Given the description of an element on the screen output the (x, y) to click on. 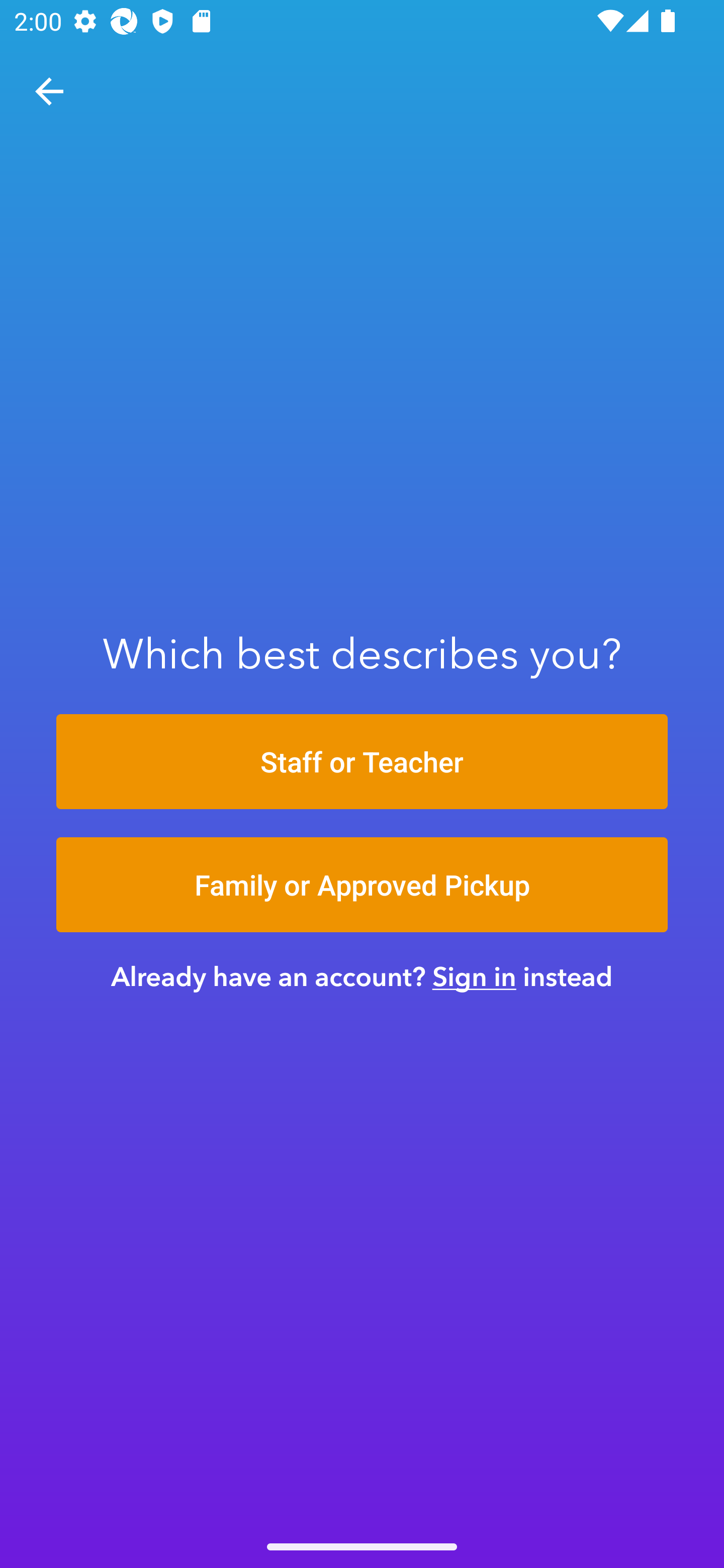
Navigate up (49, 91)
Staff or Teacher (361, 761)
Family or Approved Pickup (361, 884)
Already have an account? Sign in instead (361, 975)
